Given the description of an element on the screen output the (x, y) to click on. 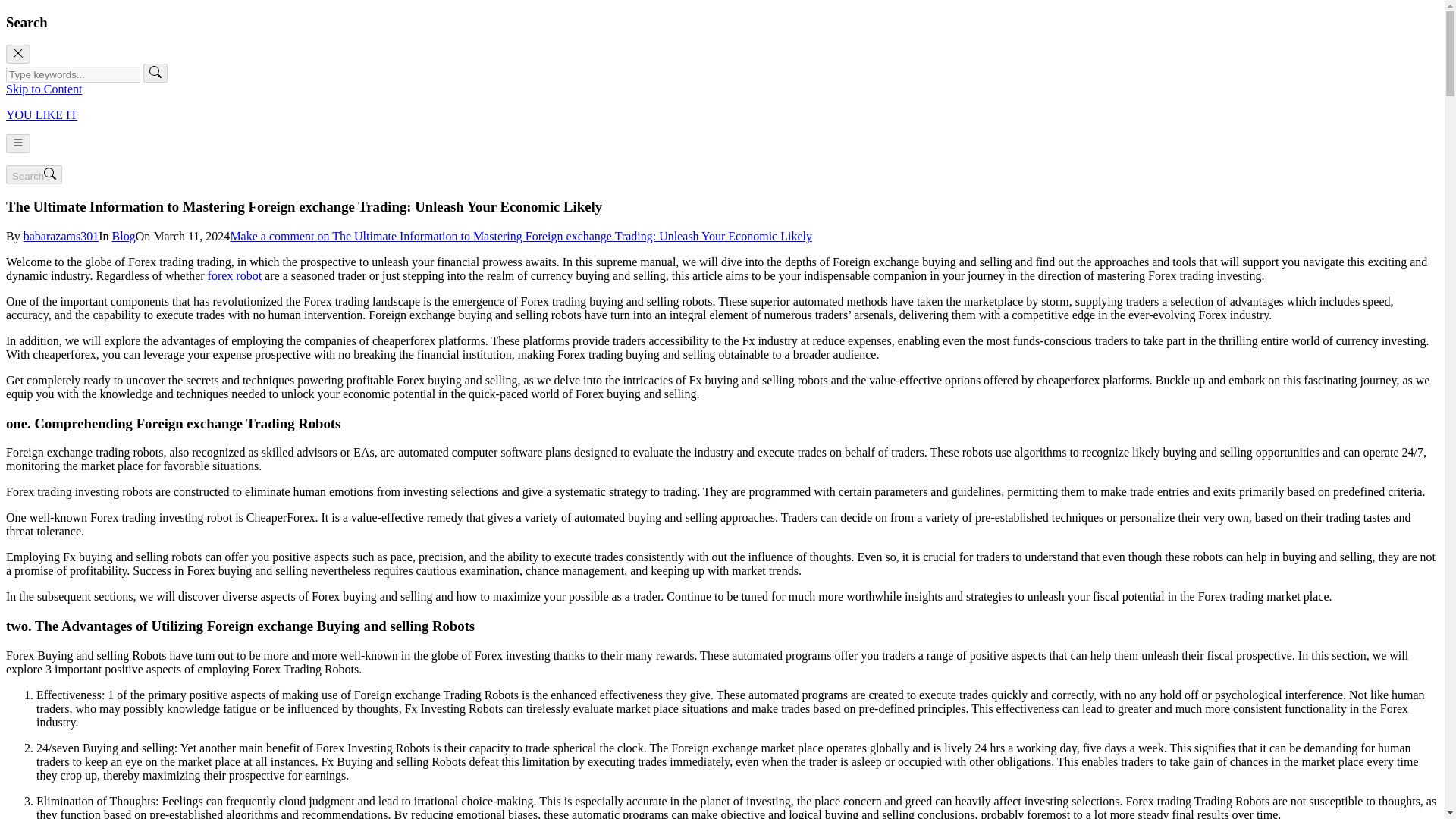
YOU LIKE IT (41, 114)
Skip to Content (43, 88)
Blog (123, 236)
forex robot (235, 275)
Search for: (72, 74)
Search (33, 174)
babarazams301 (61, 236)
